Given the description of an element on the screen output the (x, y) to click on. 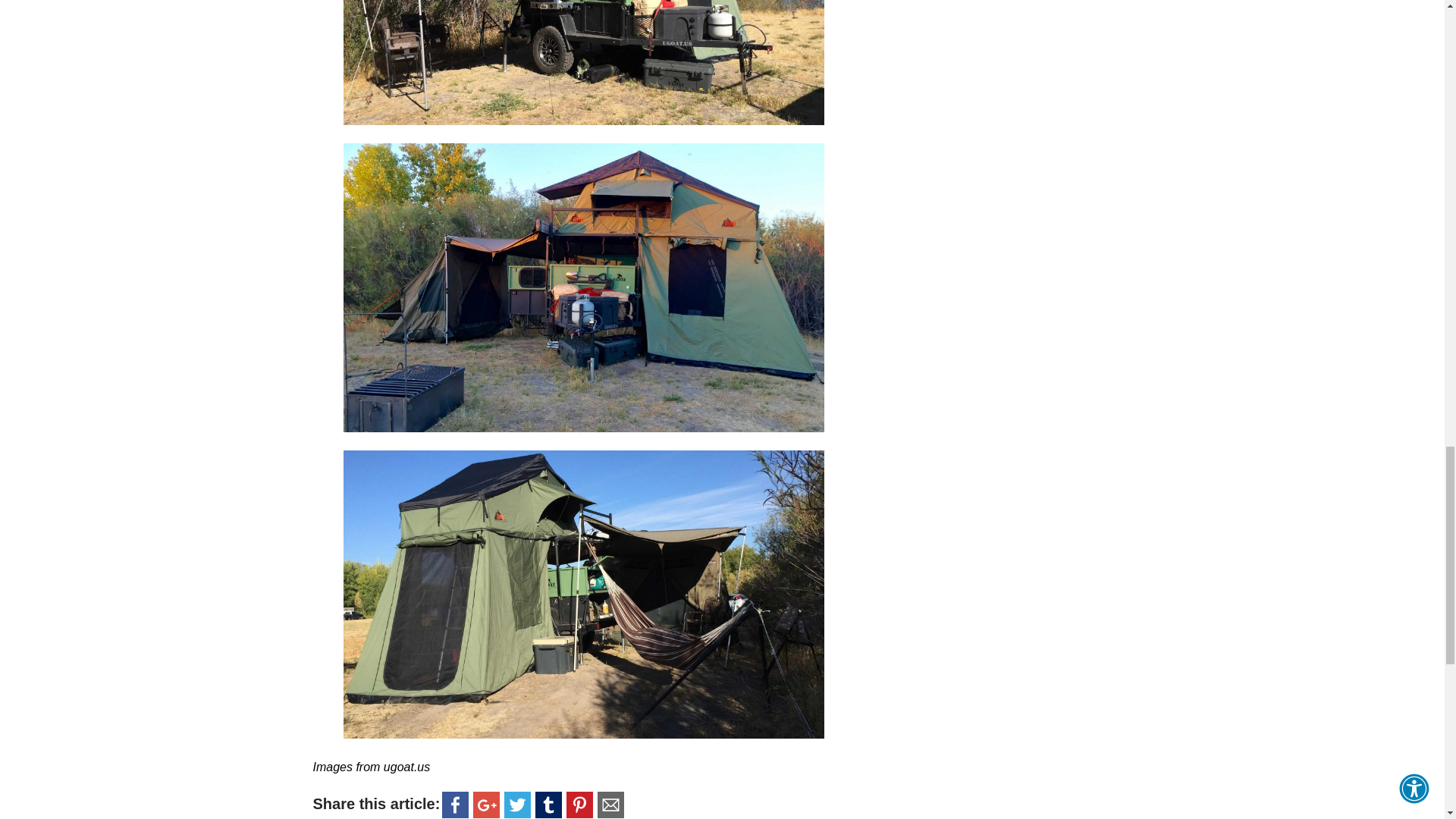
email (610, 804)
pinterest (579, 804)
tumblr (548, 804)
twitter (517, 804)
facebook (454, 804)
google (486, 804)
